Given the description of an element on the screen output the (x, y) to click on. 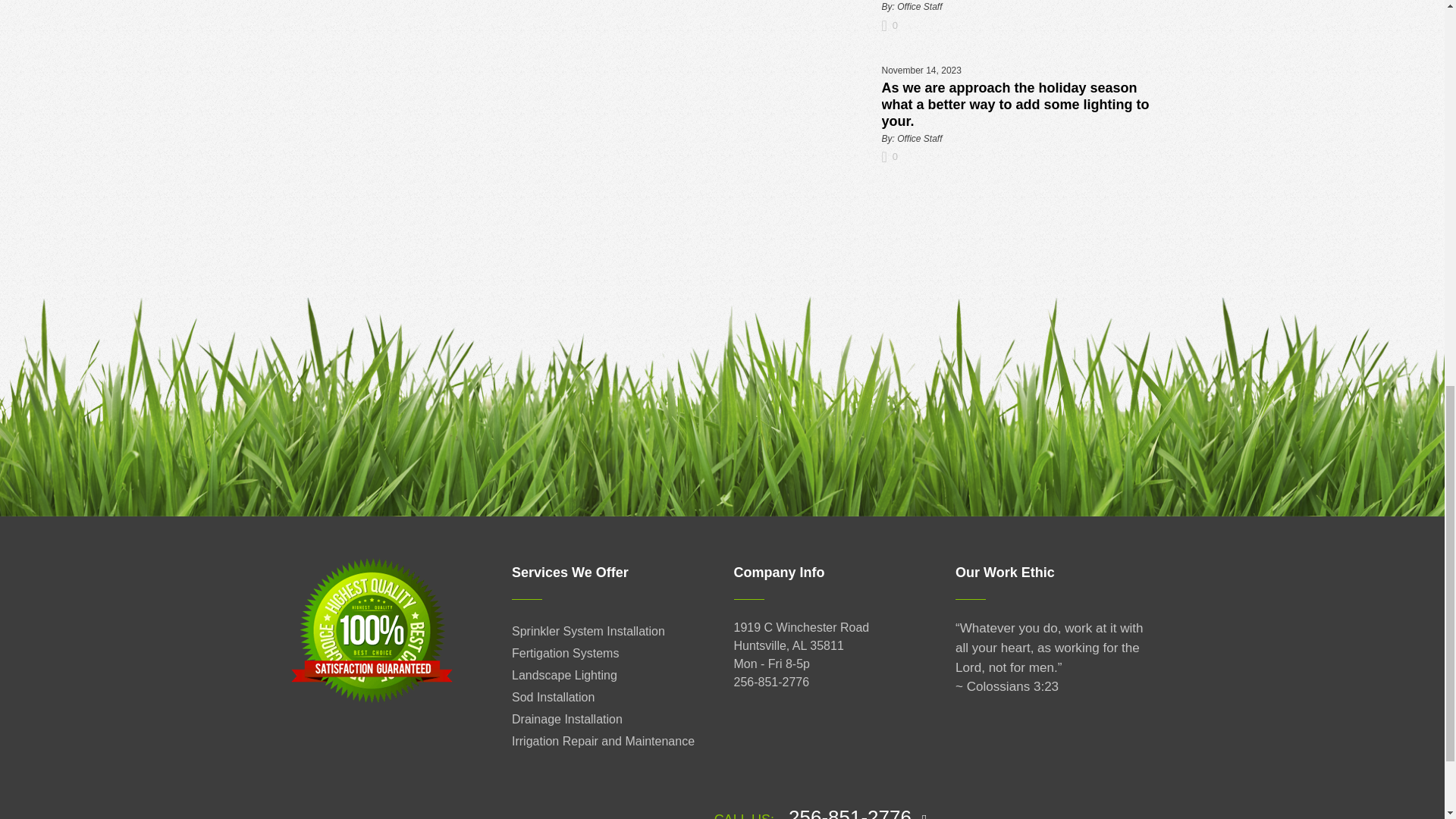
Landscape Lighting (564, 675)
Fertigation Systems (565, 653)
Sprinkler System Installation (588, 631)
